Given the description of an element on the screen output the (x, y) to click on. 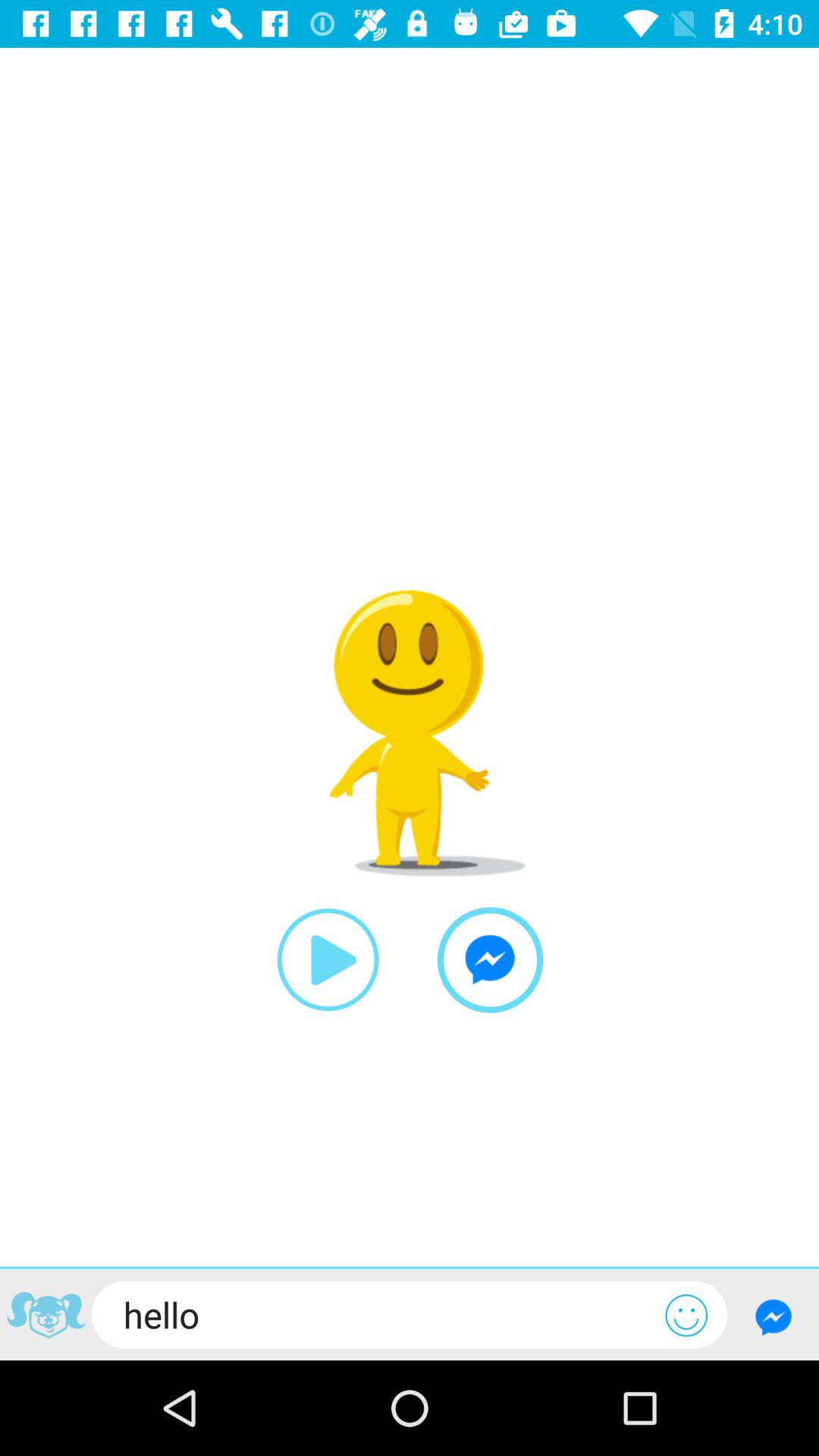
open icon next to the hello icon (686, 1315)
